Given the description of an element on the screen output the (x, y) to click on. 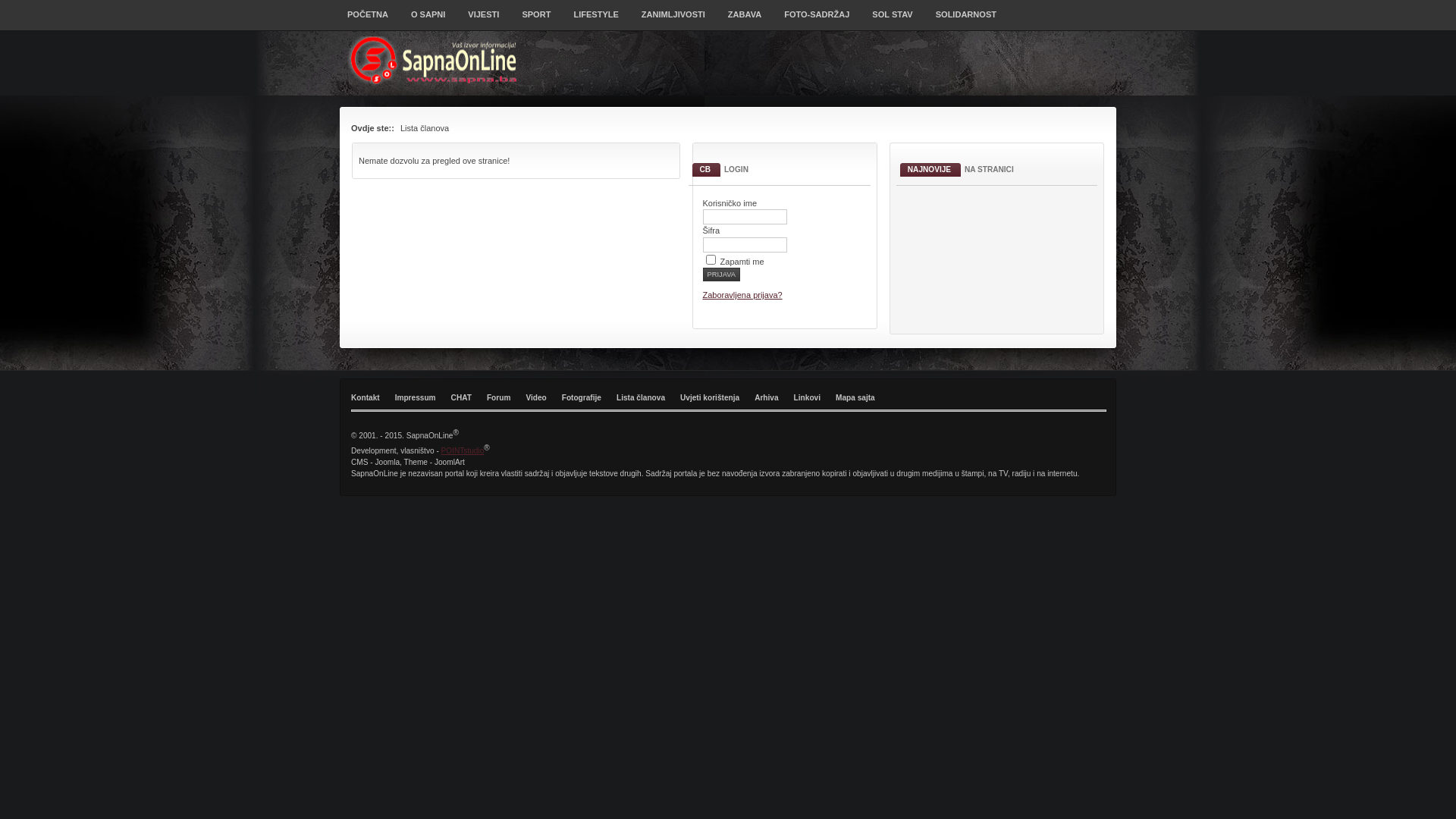
POINTstudio Element type: text (462, 450)
SOL STAV Element type: text (891, 20)
Kontakt Element type: text (365, 397)
Mapa sajta Element type: text (855, 397)
SPORT Element type: text (536, 20)
Fotografije Element type: text (581, 397)
CHAT Element type: text (461, 397)
VIJESTI Element type: text (483, 20)
Linkovi Element type: text (806, 397)
"src":"http://sapna.ba/grafika/POINT.swf" Element type: hover (1021, 257)
Impressum Element type: text (415, 397)
Forum Element type: text (498, 397)
ZABAVA Element type: text (744, 20)
SOLIDARNOST Element type: text (966, 20)
SapnaOnLine Element type: hover (436, 60)
O SAPNI Element type: text (427, 20)
ZANIMLJIVOSTI Element type: text (672, 20)
LIFESTYLE Element type: text (595, 20)
Video Element type: text (535, 397)
Prijava Element type: text (721, 274)
Zaboravljena prijava? Element type: text (741, 294)
Arhiva Element type: text (766, 397)
